Given the description of an element on the screen output the (x, y) to click on. 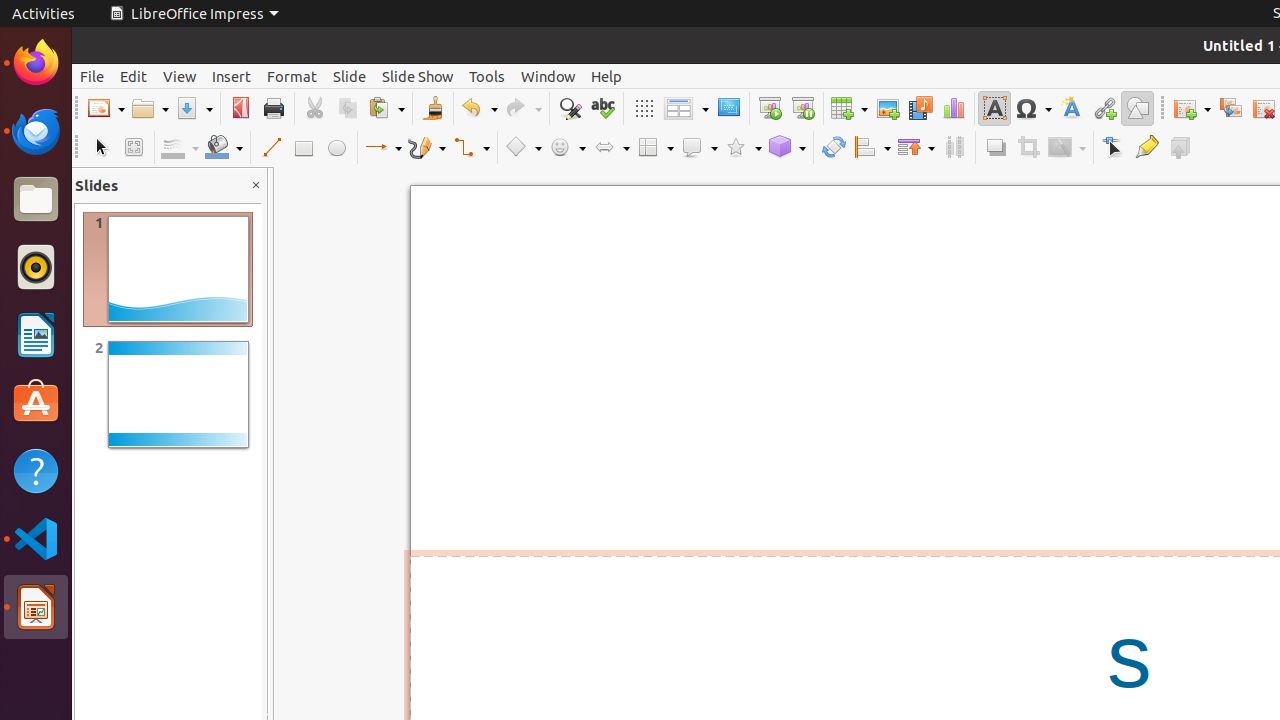
New Slide Element type: push-button (1192, 108)
Spelling Element type: push-button (602, 108)
Display Views Element type: push-button (686, 109)
Edit Points Element type: push-button (1113, 147)
